Given the description of an element on the screen output the (x, y) to click on. 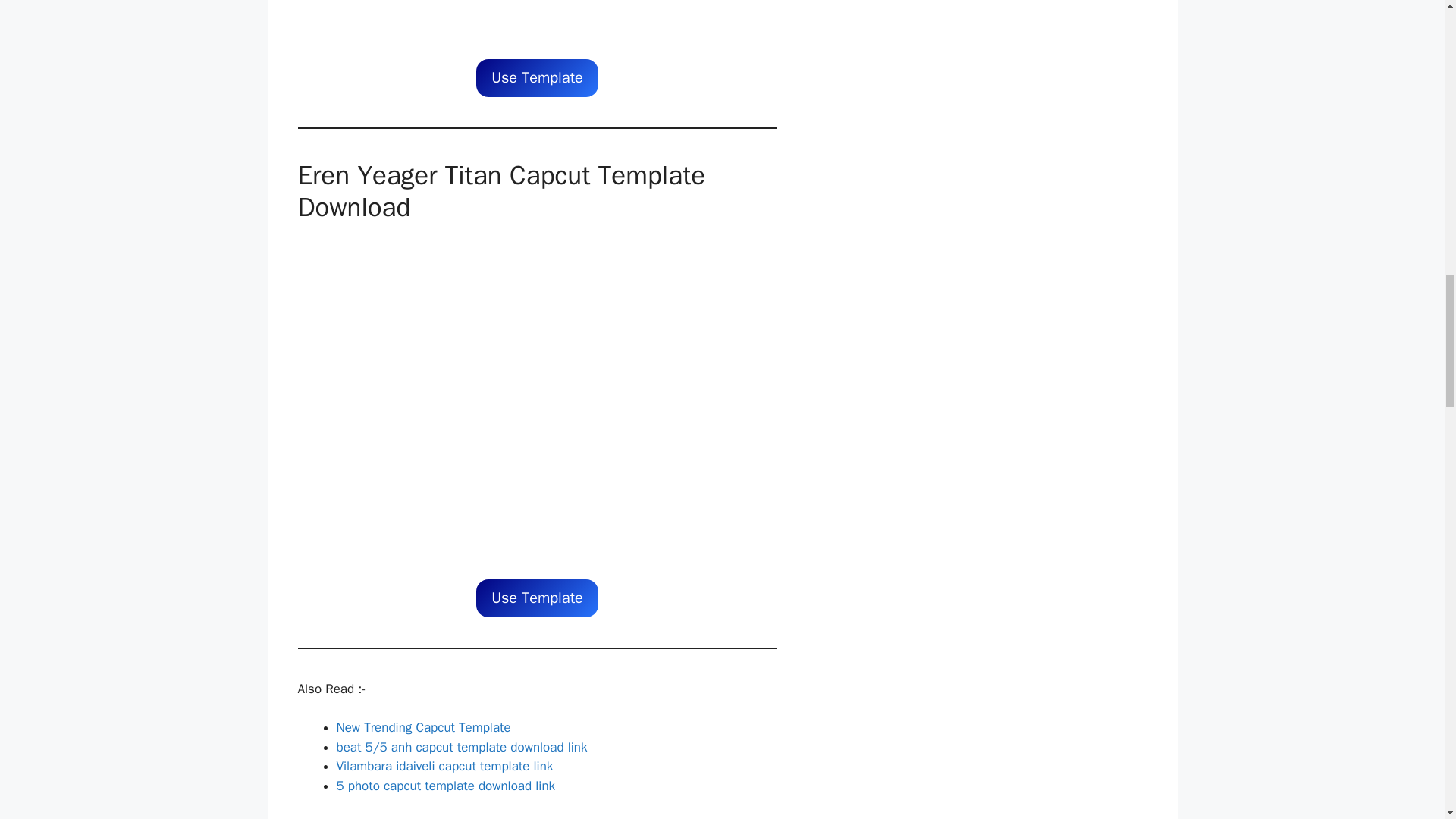
Use Template (537, 598)
New Trending Capcut Template (423, 727)
Vilambara idaiveli capcut template link (444, 765)
Use Template (537, 77)
5 photo capcut template download link (446, 785)
